Given the description of an element on the screen output the (x, y) to click on. 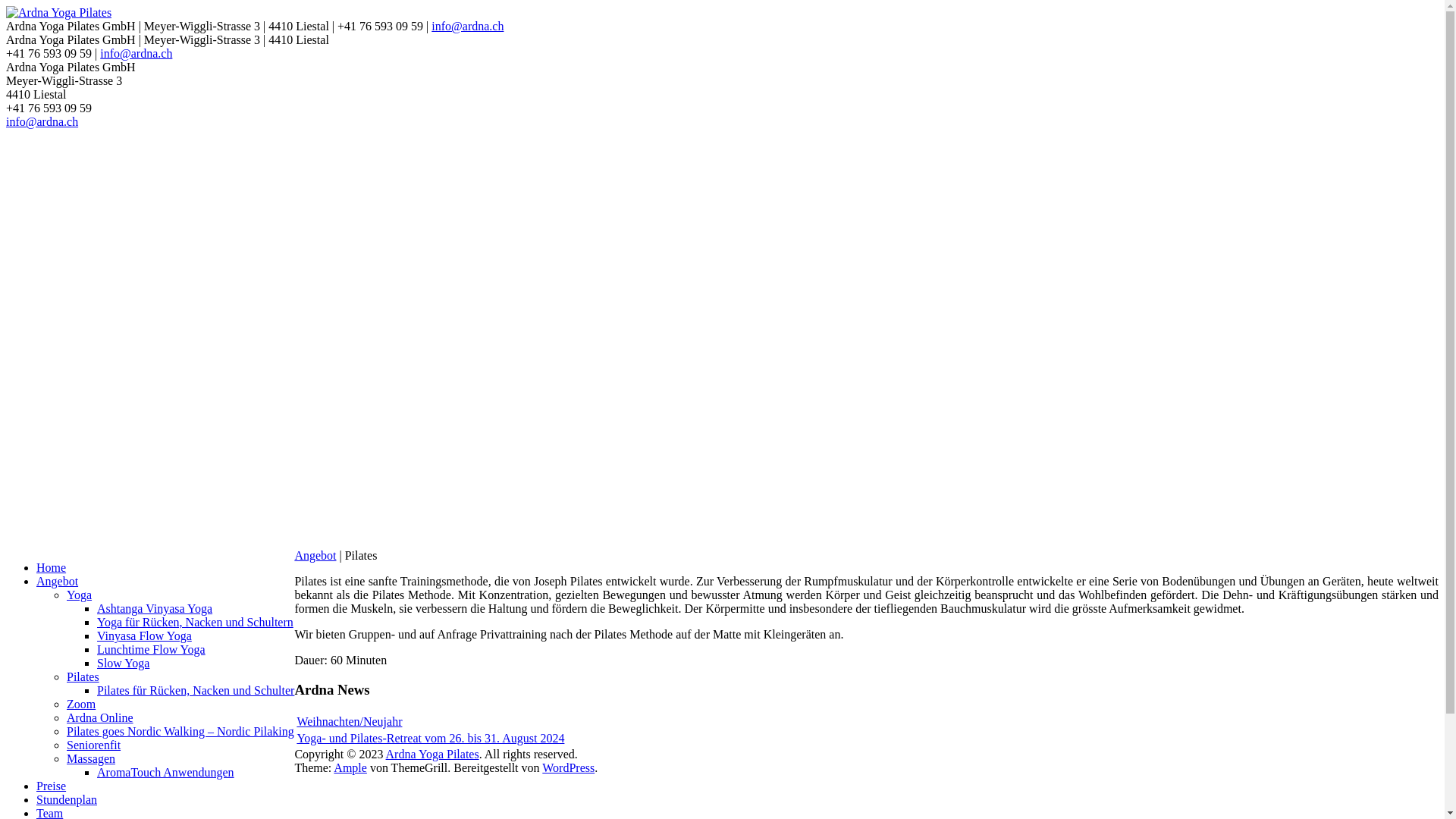
Preise Element type: text (50, 785)
Zoom Element type: text (80, 703)
WordPress Element type: text (568, 767)
Ashtanga Vinyasa Yoga Element type: text (154, 608)
Yoga Element type: text (78, 594)
Ardna Online Element type: text (99, 717)
info@ardna.ch Element type: text (42, 121)
Slow Yoga Element type: text (123, 662)
Massagen Element type: text (90, 758)
AromaTouch Anwendungen Element type: text (165, 771)
Weihnachten/Neujahr Element type: text (348, 721)
Home Element type: text (50, 567)
Angebot Element type: text (314, 555)
Ample Element type: text (350, 767)
Stundenplan Element type: text (66, 799)
Ardna Yoga Pilates Element type: text (432, 753)
Seniorenfit Element type: text (93, 744)
Vinyasa Flow Yoga Element type: text (144, 635)
Angebot Element type: text (57, 580)
Yoga- und Pilates-Retreat vom 26. bis 31. August 2024 Element type: text (430, 737)
Pilates Element type: text (82, 676)
Lunchtime Flow Yoga Element type: text (151, 649)
info@ardna.ch Element type: text (136, 53)
info@ardna.ch Element type: text (467, 25)
